Given the description of an element on the screen output the (x, y) to click on. 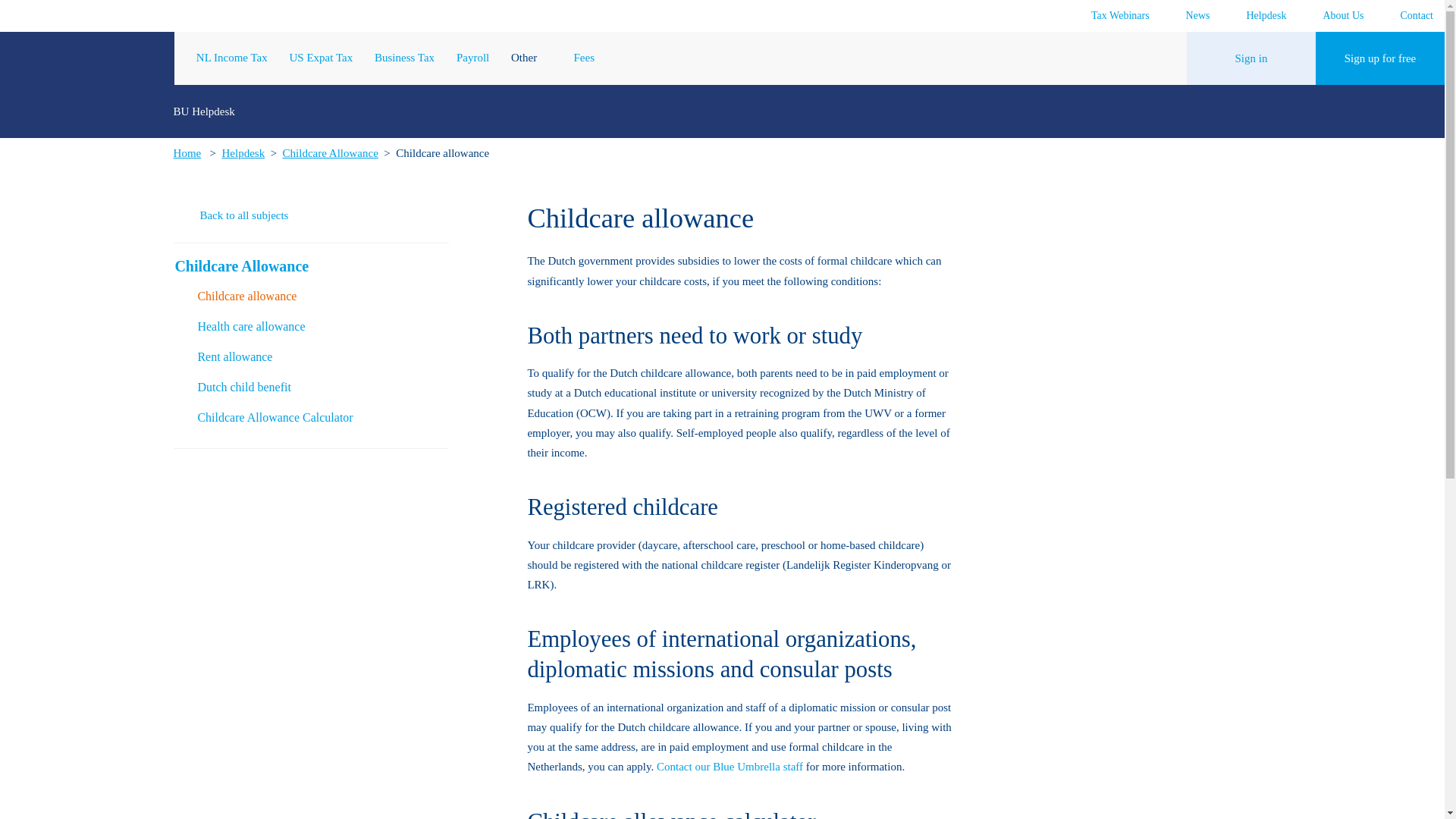
Rent allowance (322, 356)
Blue Umbrella Home (87, 58)
Business Tax (403, 57)
Helpdesk (1260, 15)
News (1190, 15)
Childcare Allowance (306, 265)
US Expat Tax (321, 57)
NL Income Tax (231, 57)
Helpdesk (242, 152)
Childcare Allowance (330, 152)
